Given the description of an element on the screen output the (x, y) to click on. 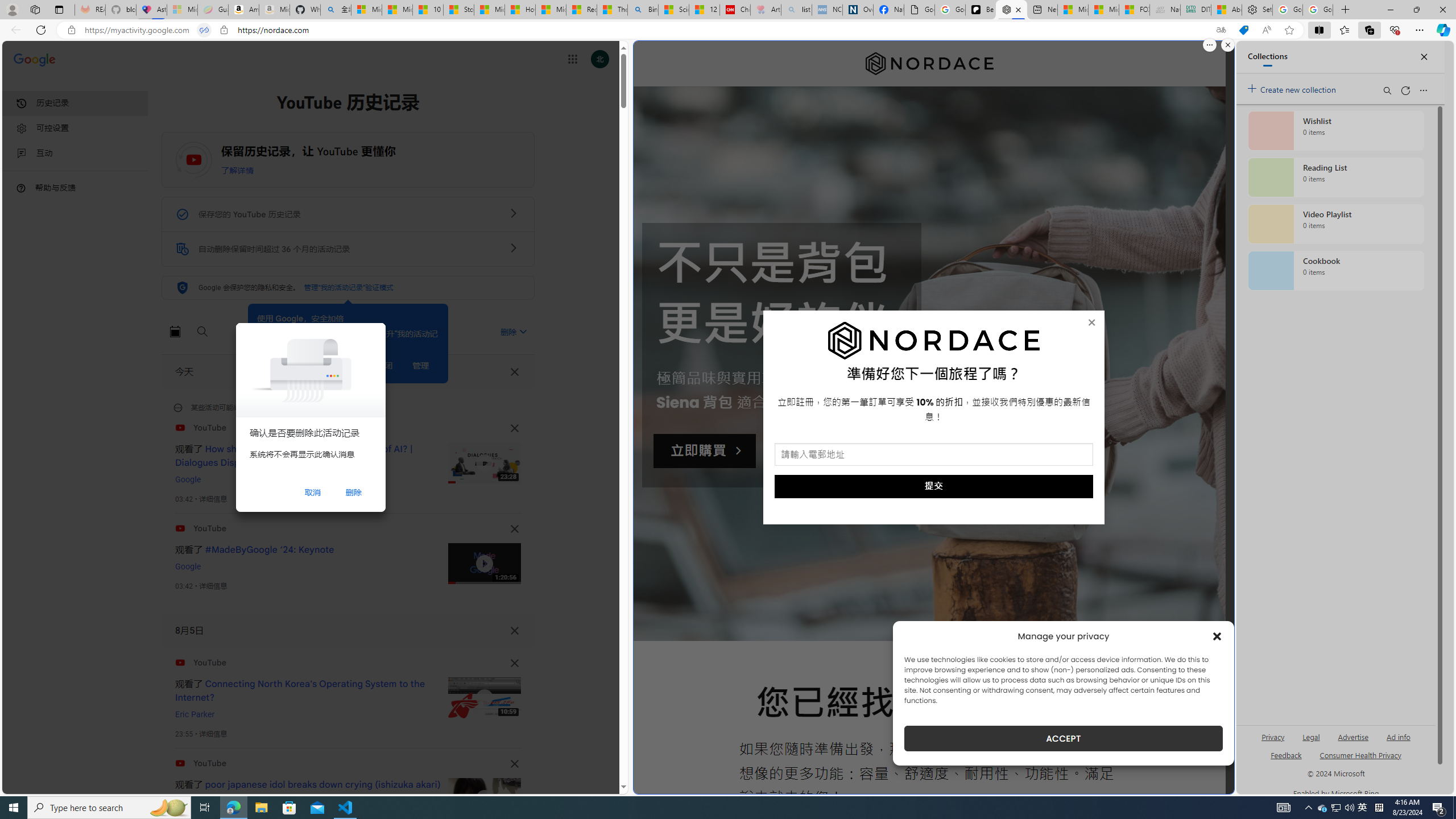
Tabs in split screen (203, 29)
AutomationID: field_5_1 (933, 455)
Google Analytics Opt-out Browser Add-on Download Page (919, 9)
Close split screen. (1227, 45)
